Given the description of an element on the screen output the (x, y) to click on. 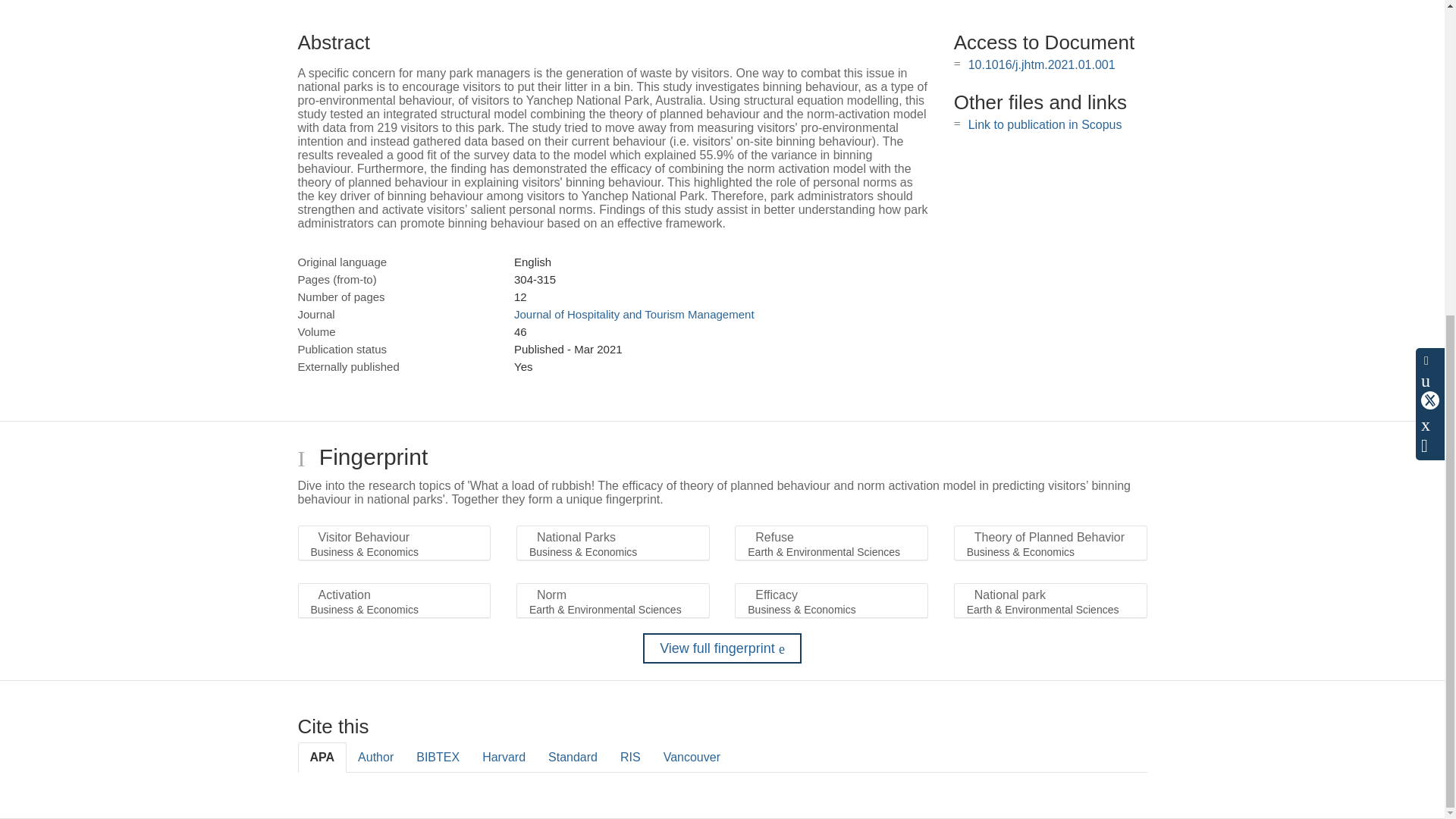
Link to publication in Scopus (1045, 124)
View full fingerprint (722, 648)
Journal of Hospitality and Tourism Management (633, 314)
